Given the description of an element on the screen output the (x, y) to click on. 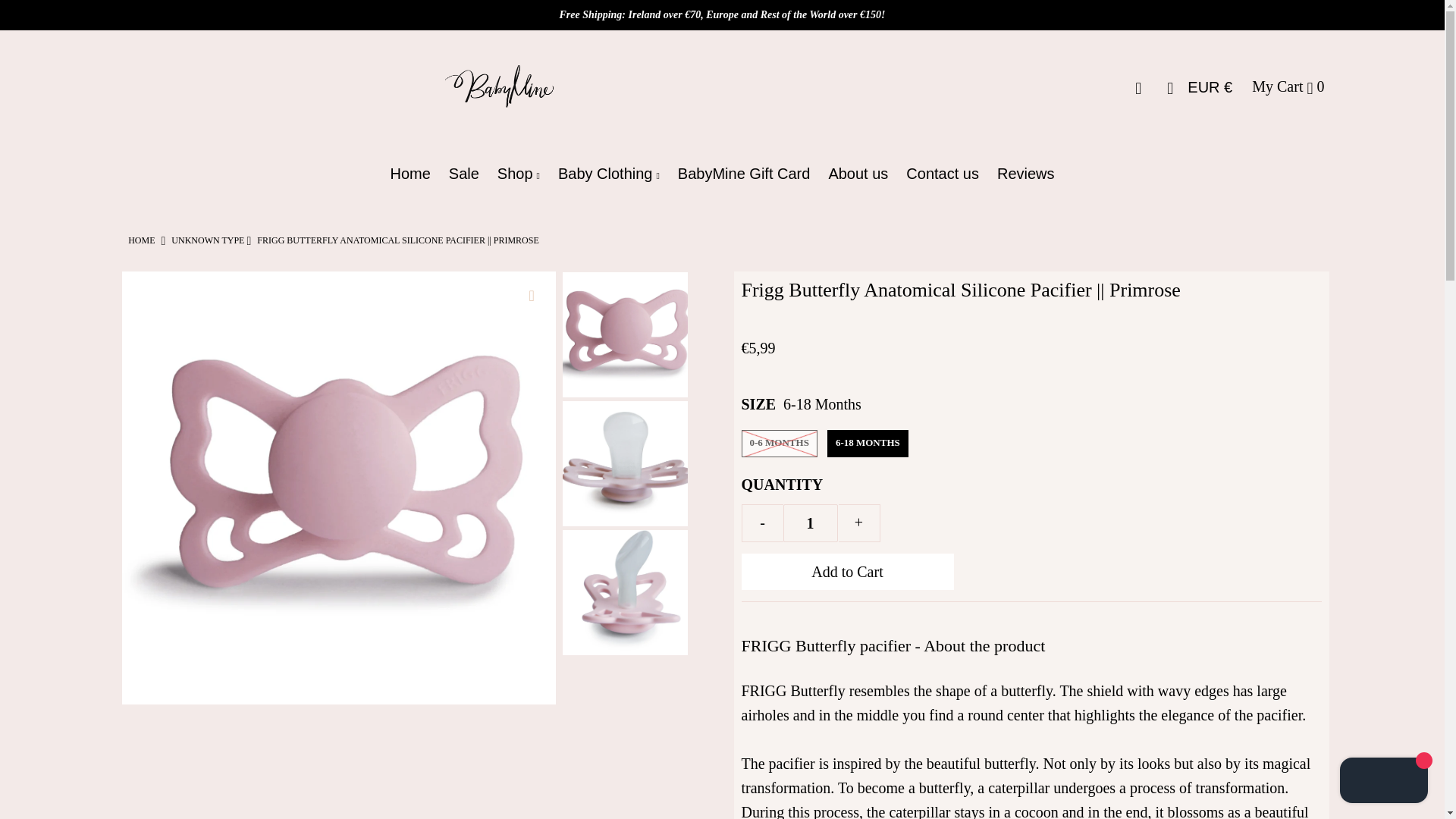
Shop (518, 173)
Sale (463, 173)
Home (409, 173)
Shopify online store chat (1383, 781)
1 (810, 523)
Home (141, 240)
Add to Cart (847, 571)
